Given the description of an element on the screen output the (x, y) to click on. 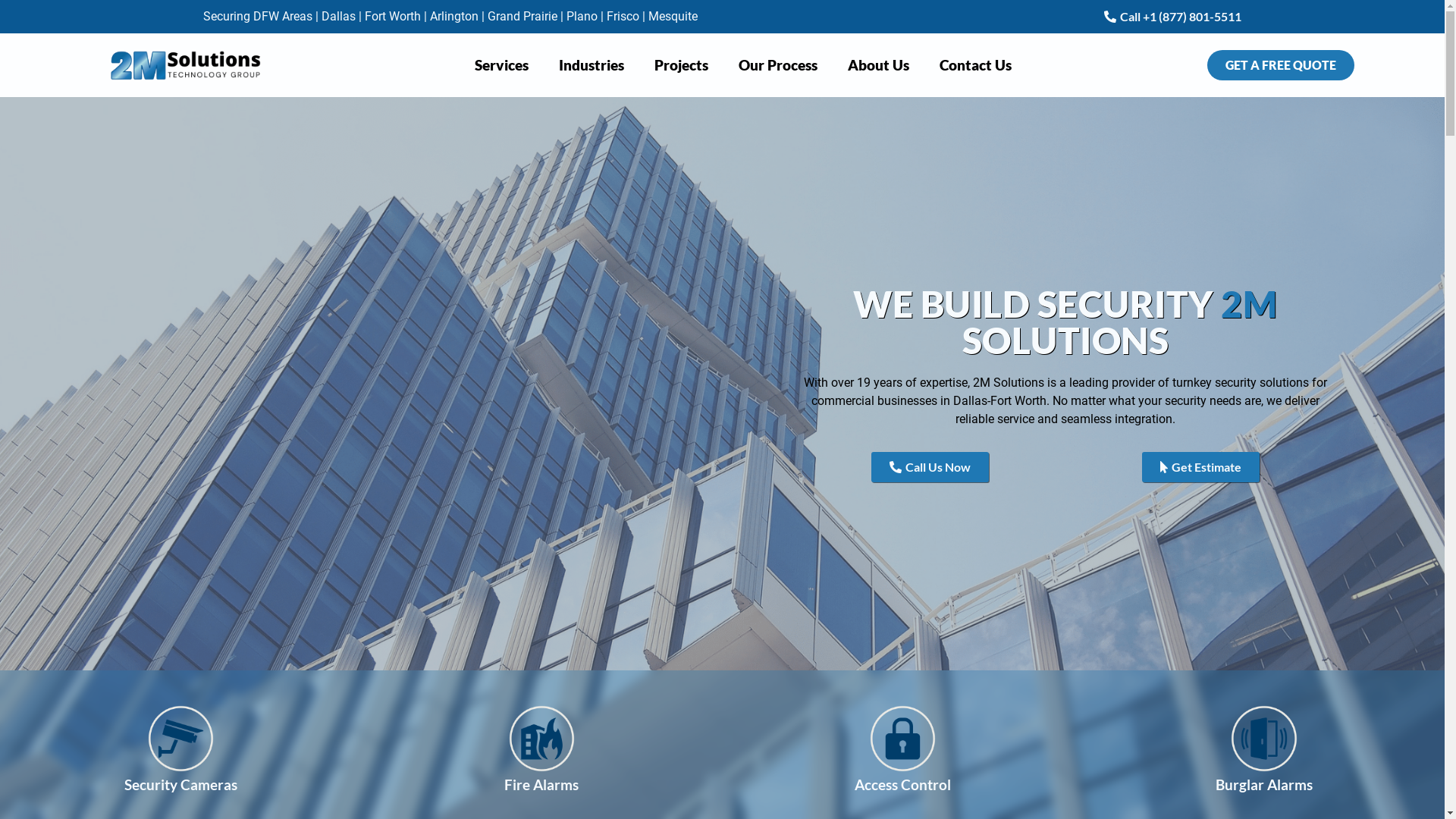
About Us Element type: text (878, 64)
Call Us Now Element type: text (929, 466)
Industries Element type: text (591, 64)
Contact Us Element type: text (975, 64)
Burglar Alarms Element type: text (1263, 784)
Services Element type: text (501, 64)
Security Cameras Element type: text (180, 784)
Get Estimate Element type: text (1200, 466)
Access Control Element type: text (902, 784)
Our Process Element type: text (777, 64)
Call +1 (877) 801-5511 Element type: text (1172, 16)
GET A FREE QUOTE Element type: text (1280, 65)
Projects Element type: text (681, 64)
Fire Alarms Element type: text (541, 784)
